Given the description of an element on the screen output the (x, y) to click on. 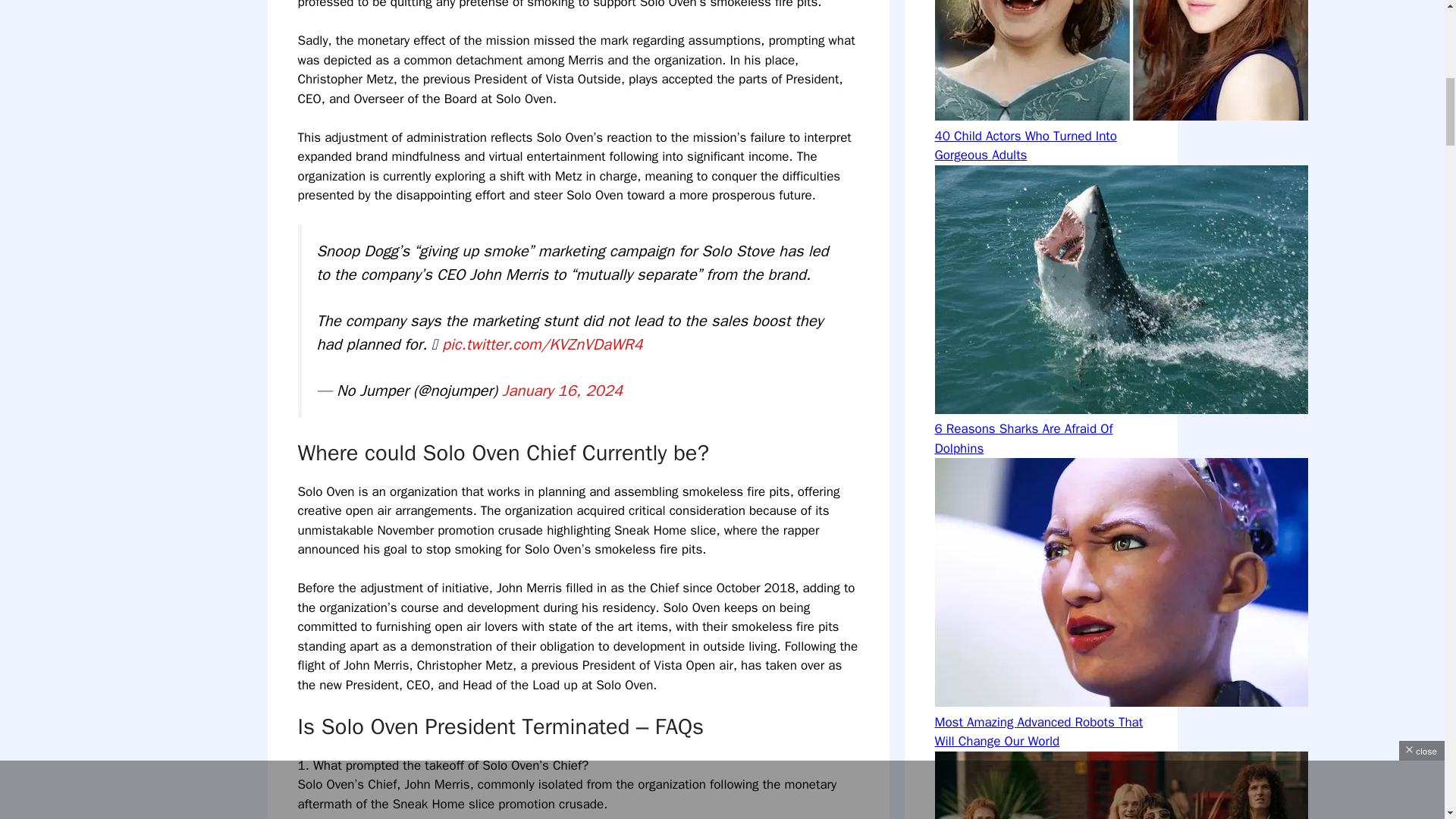
Scroll back to top (1406, 720)
January 16, 2024 (562, 390)
